Given the description of an element on the screen output the (x, y) to click on. 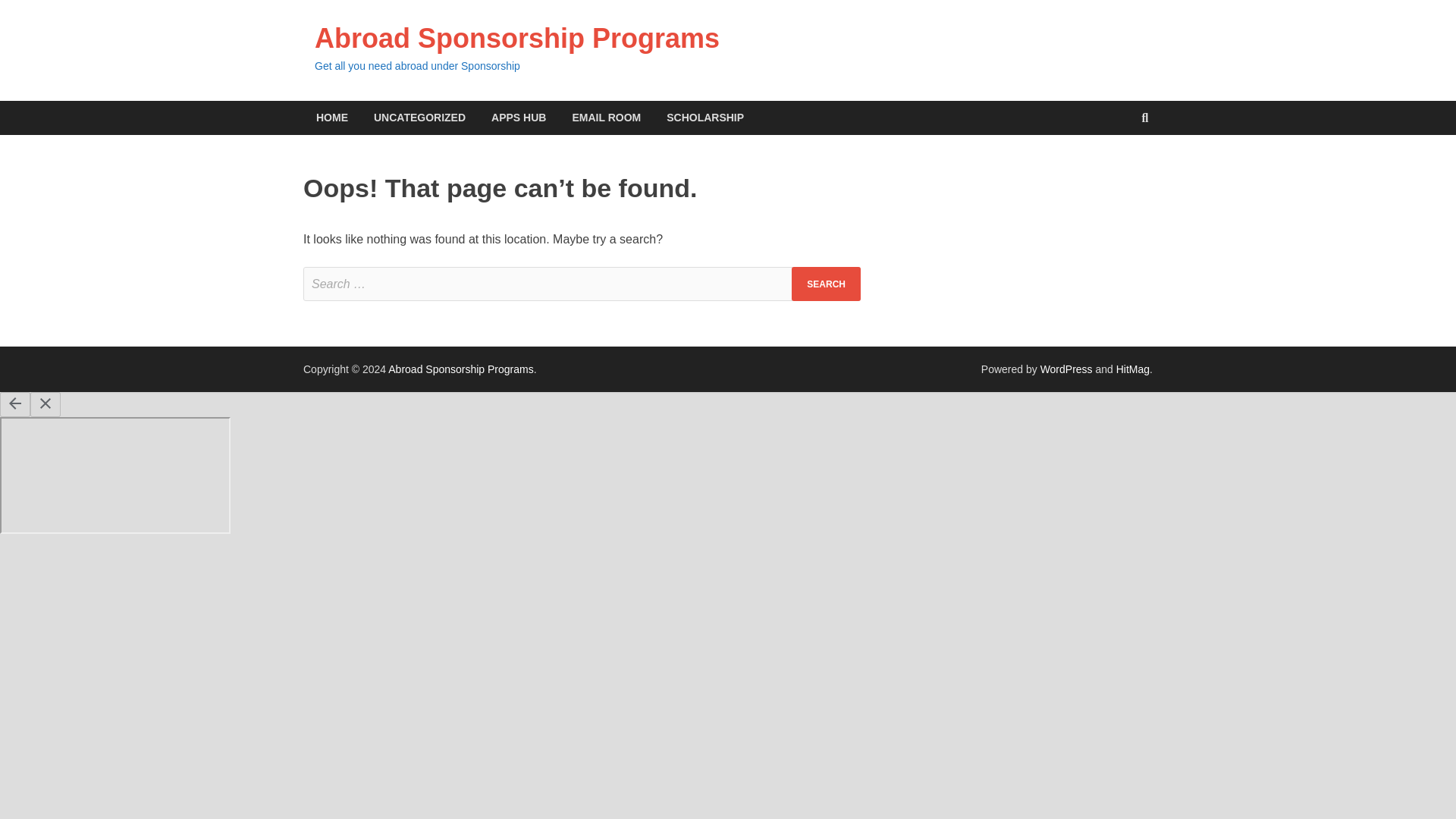
Abroad Sponsorship Programs (460, 369)
HitMag WordPress Theme (1133, 369)
Search (826, 283)
WordPress (1067, 369)
Search (826, 283)
APPS HUB (519, 117)
HitMag (1133, 369)
WordPress (1067, 369)
Abroad Sponsorship Programs (460, 369)
UNCATEGORIZED (420, 117)
